Given the description of an element on the screen output the (x, y) to click on. 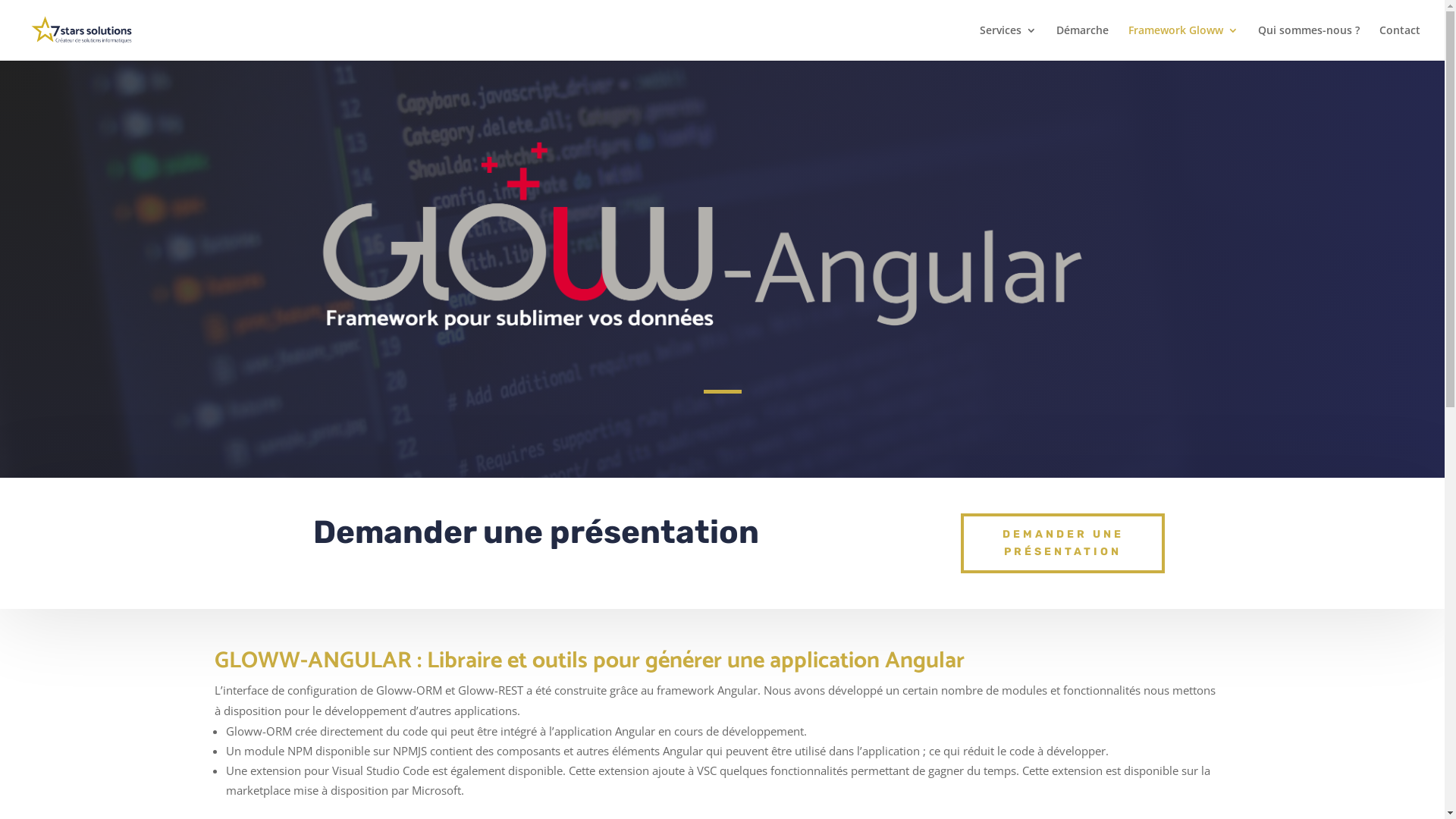
Services Element type: text (1007, 42)
Framework Gloww Element type: text (1183, 42)
gloww-Angular Element type: hover (721, 239)
Qui sommes-nous ? Element type: text (1308, 42)
Contact Element type: text (1399, 42)
